Given the description of an element on the screen output the (x, y) to click on. 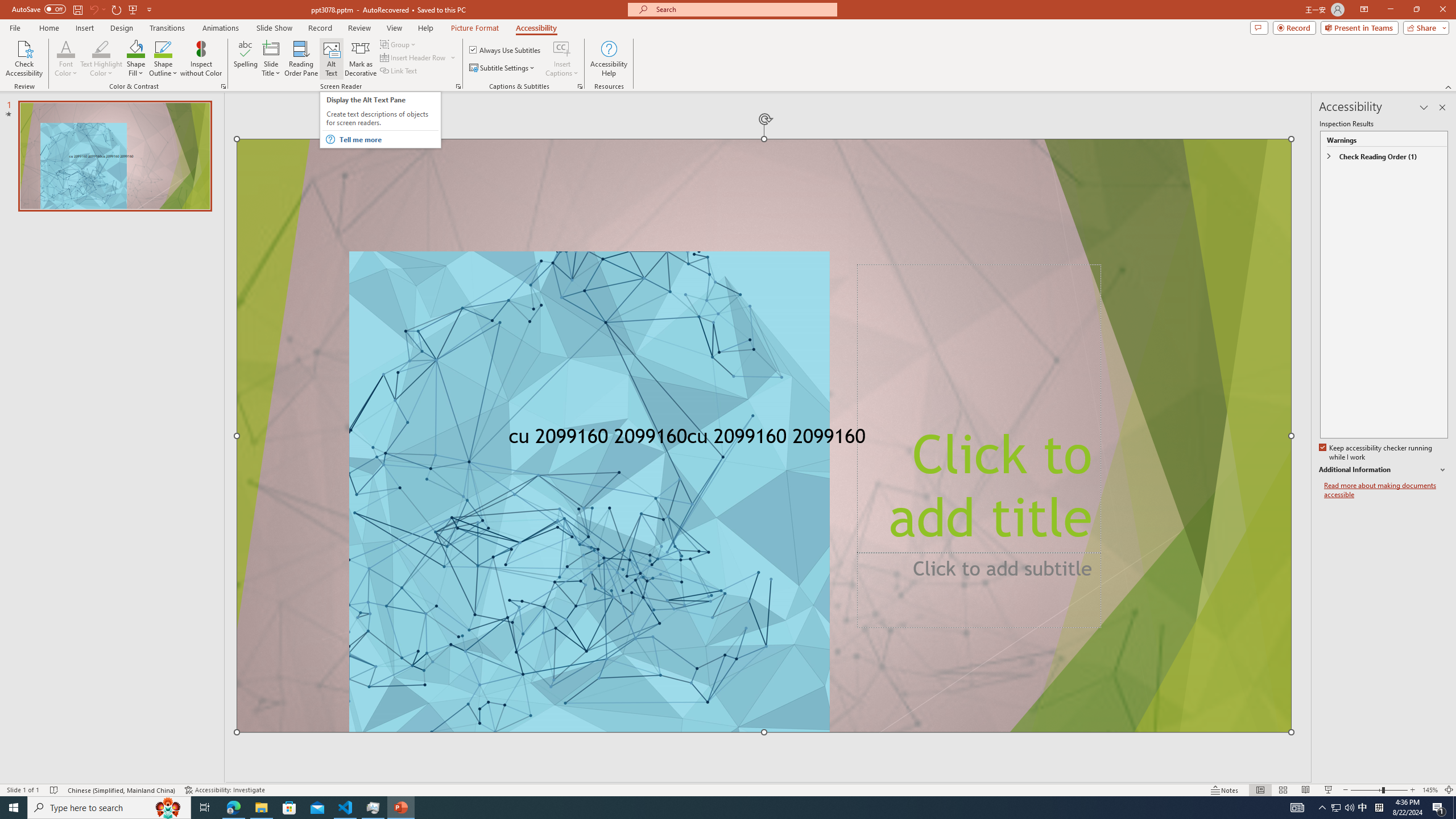
Always Use Subtitles (505, 49)
Picture Format (475, 28)
